Given the description of an element on the screen output the (x, y) to click on. 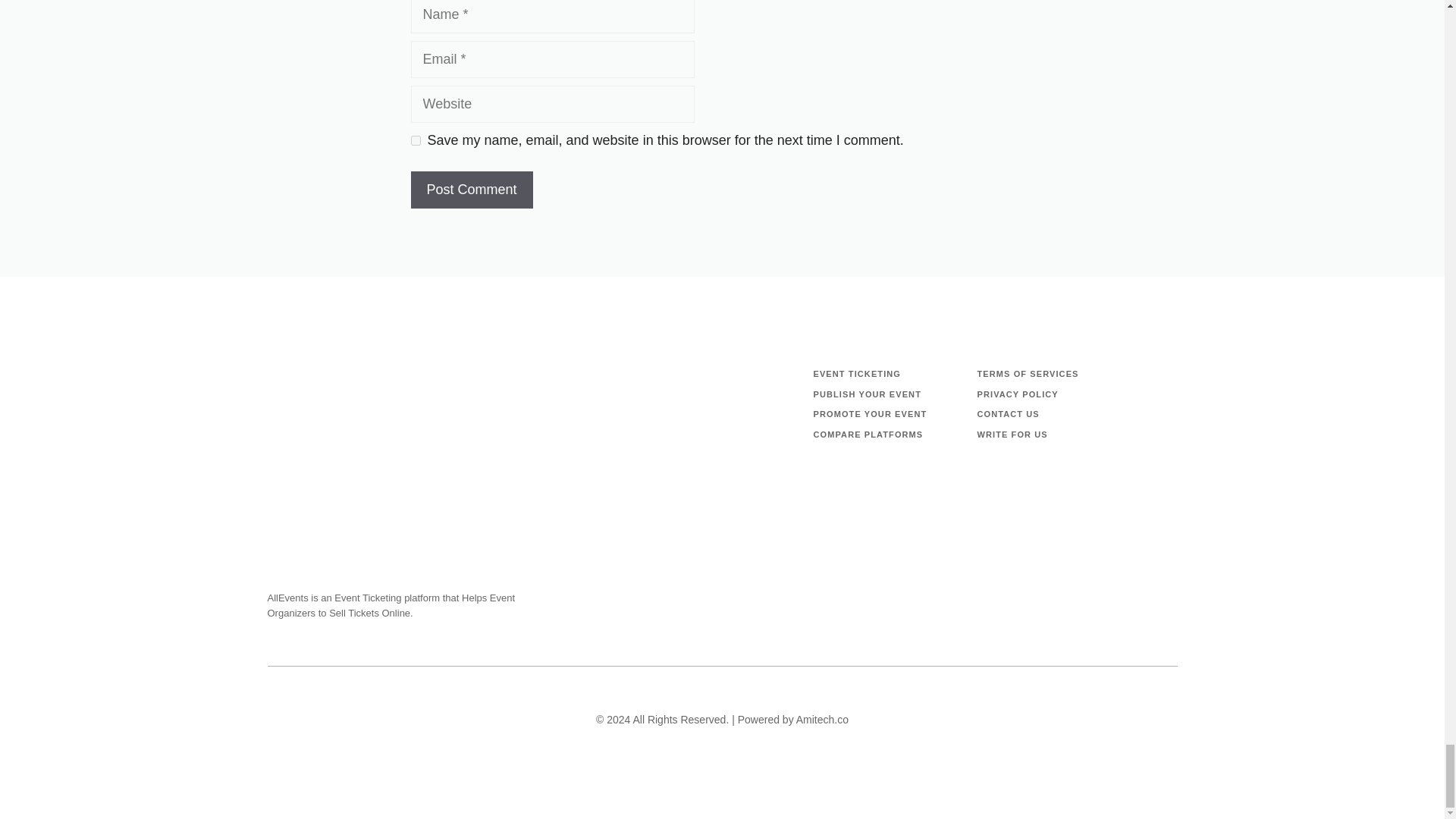
yes (415, 140)
Post Comment (471, 189)
